Given the description of an element on the screen output the (x, y) to click on. 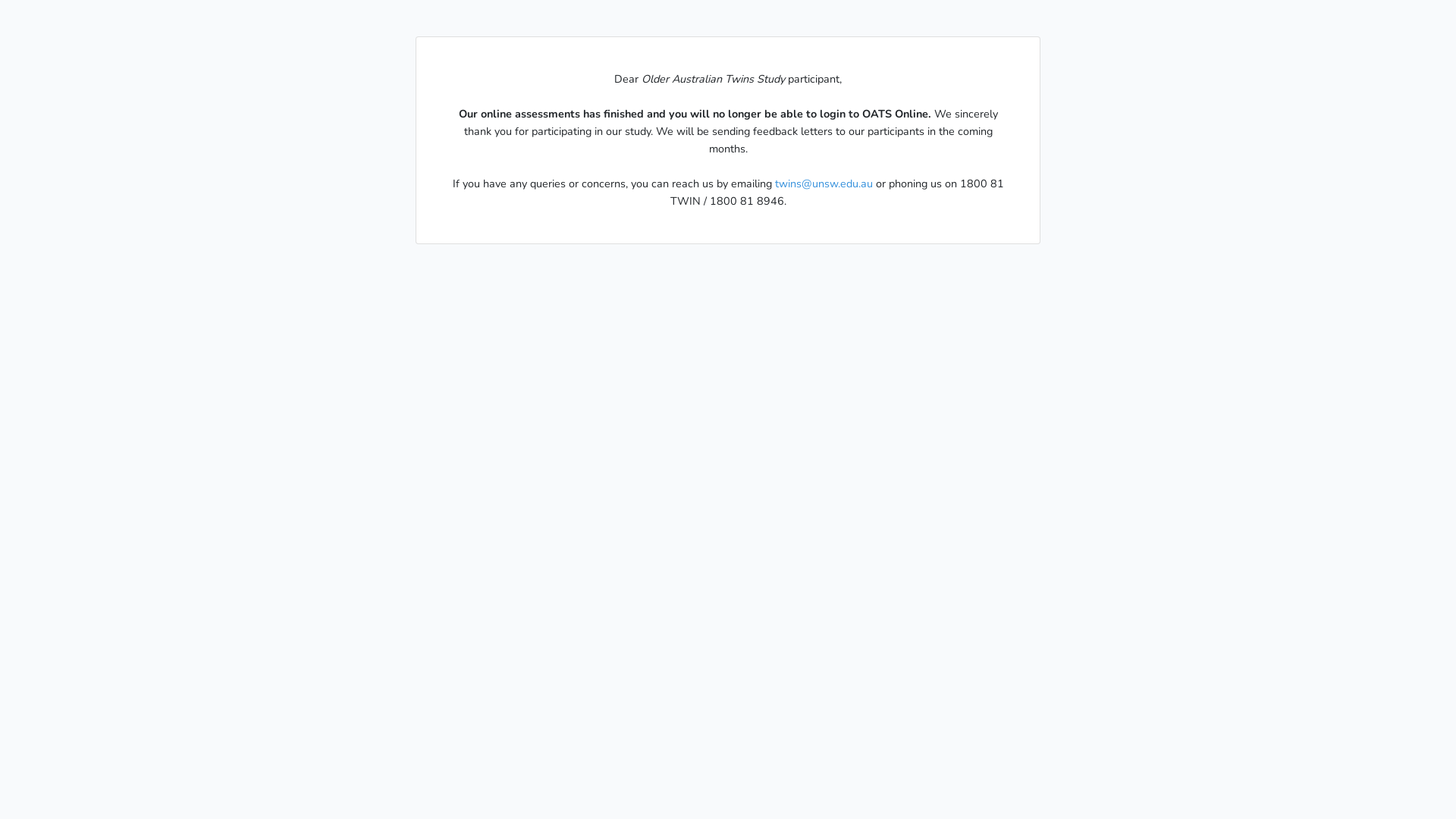
twins@unsw.edu.au Element type: text (823, 183)
